Given the description of an element on the screen output the (x, y) to click on. 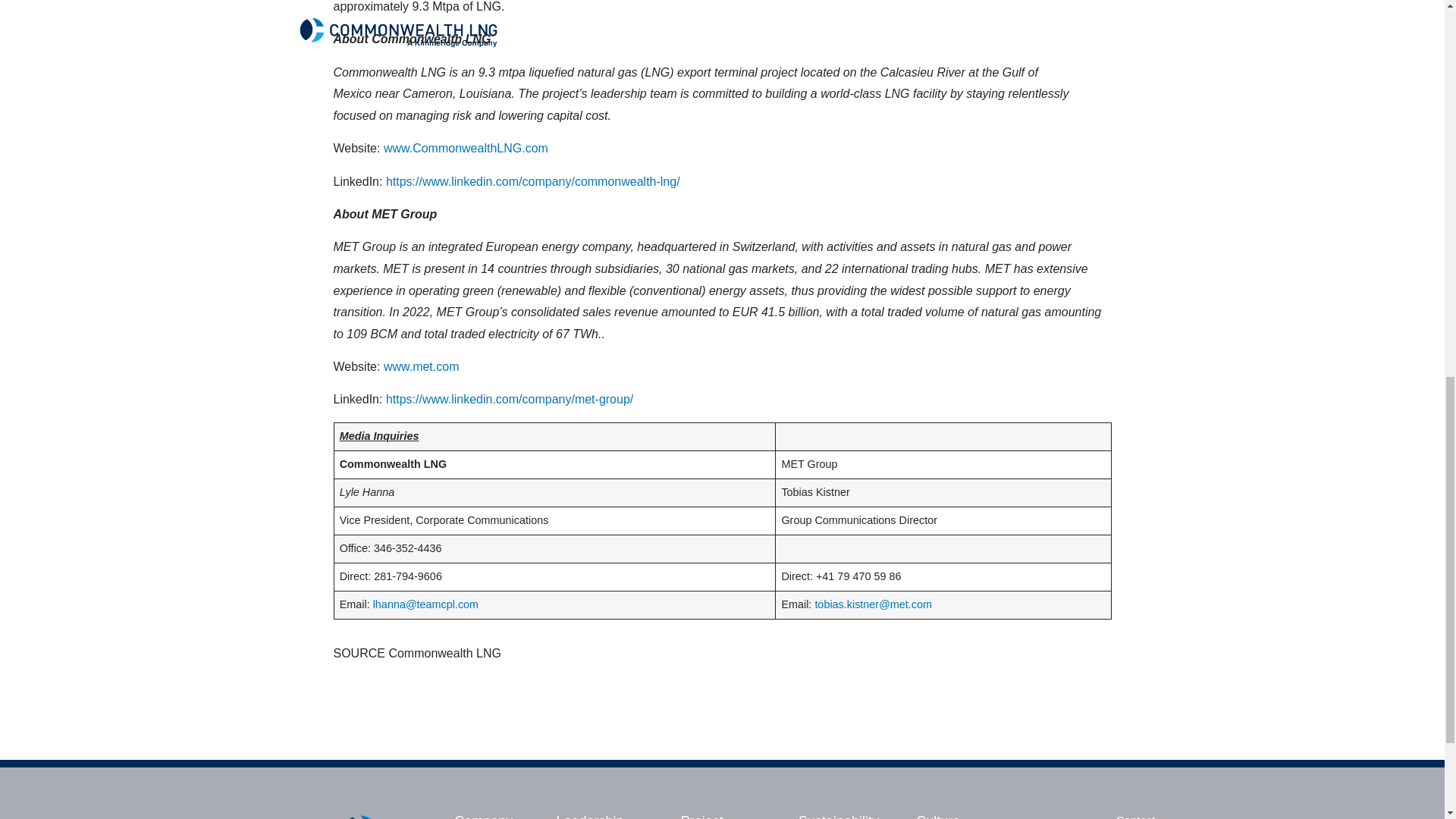
www.CommonwealthLNG.com (466, 147)
Leadership (590, 816)
www.met.com (422, 366)
Company (483, 816)
